Given the description of an element on the screen output the (x, y) to click on. 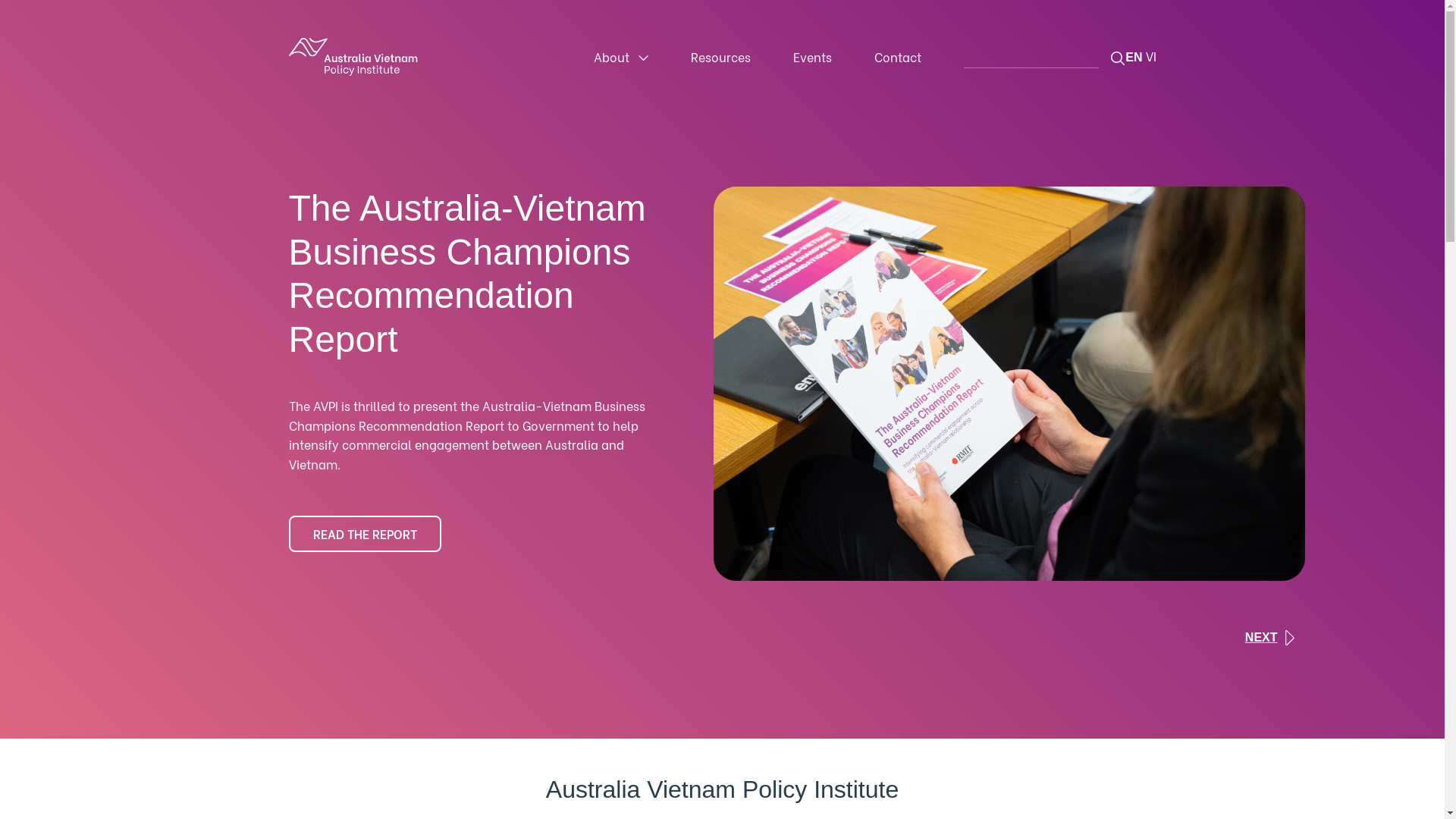
RMIT AVPI Element type: hover (352, 56)
READ THE REPORT Element type: text (364, 533)
Resources Element type: text (720, 56)
Events Element type: text (812, 56)
EN Element type: text (1133, 56)
Contact Element type: text (897, 56)
Search Element type: text (1117, 57)
NEXT Element type: text (1272, 637)
VI Element type: text (1150, 55)
About Element type: text (620, 56)
